Given the description of an element on the screen output the (x, y) to click on. 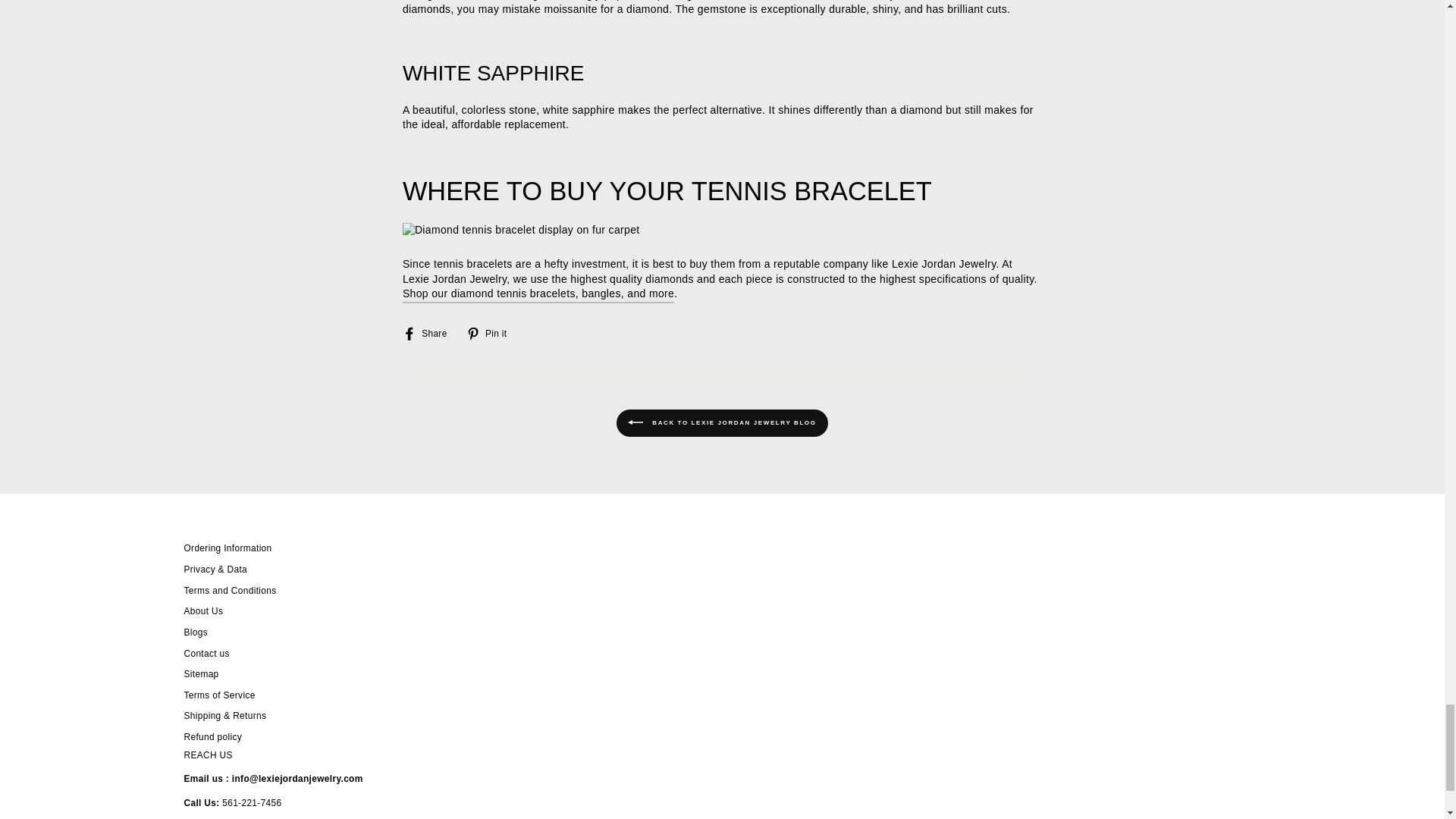
Contact Us (296, 778)
Shop our diamond tennis bracelets, bangles, and more (538, 294)
Pin on Pinterest (491, 332)
Share on Facebook (430, 332)
